Given the description of an element on the screen output the (x, y) to click on. 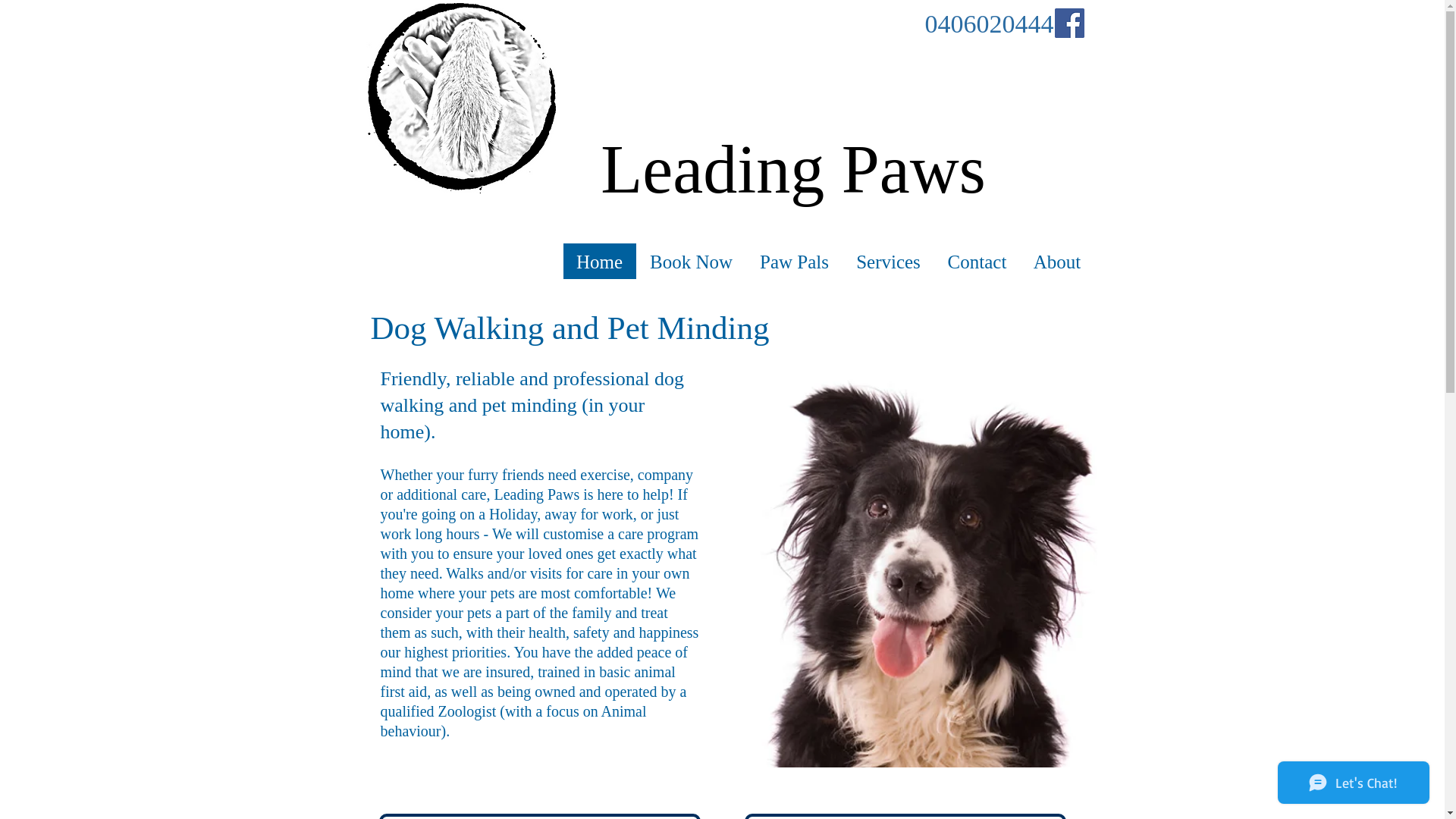
Services Element type: text (887, 261)
About Element type: text (1056, 261)
Leading Paws Logo.png Element type: hover (460, 97)
Paw Pals Element type: text (794, 261)
Book Now Element type: text (690, 261)
Dog Wal Element type: text (427, 327)
Home Element type: text (598, 261)
You have Element type: text (540, 651)
Contact Element type: text (976, 261)
